Given the description of an element on the screen output the (x, y) to click on. 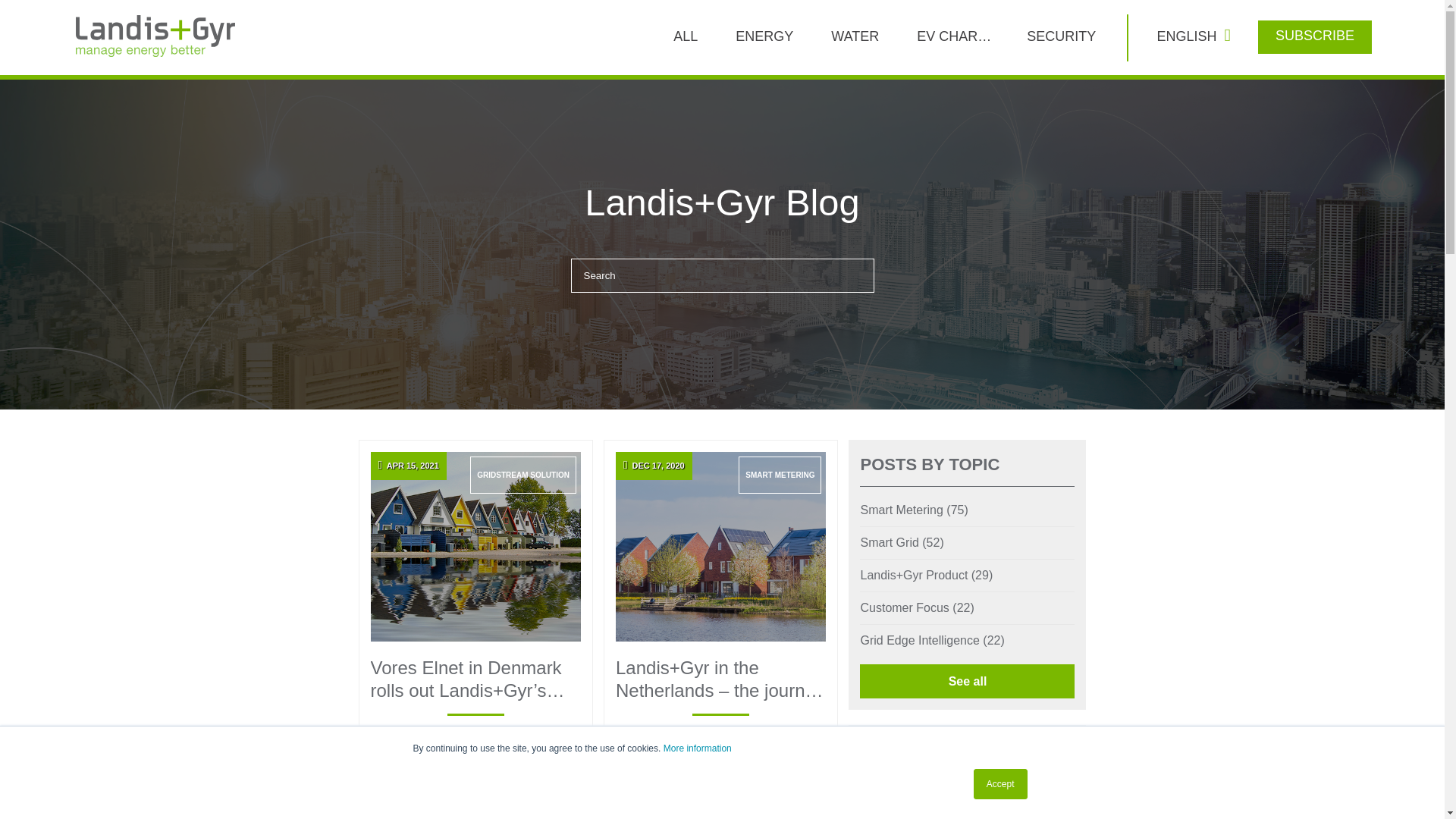
WATER (854, 36)
SECURITY (1060, 35)
GRIDSTREAM SOLUTION (523, 474)
More information (697, 747)
ENERGY (764, 36)
 APR 15, 2021 (474, 546)
EV CHARGING (954, 36)
Accept (1000, 784)
ENGLISH (1190, 36)
 DEC 17, 2020 (720, 546)
SMART METERING (779, 474)
SUBSCRIBE (1314, 35)
ALL (685, 36)
